Given the description of an element on the screen output the (x, y) to click on. 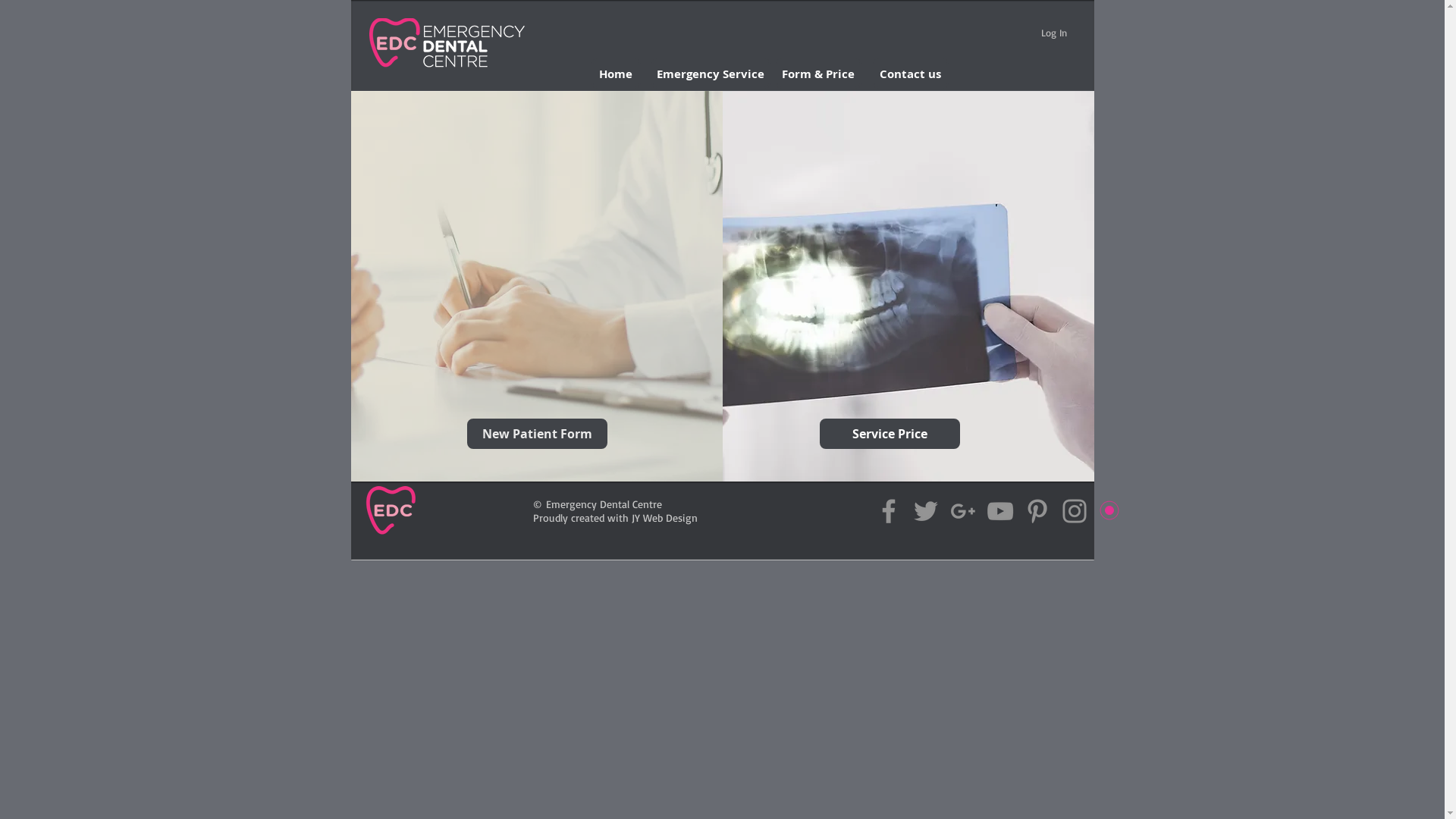
Log In Element type: text (1052, 32)
Contact us Element type: text (909, 73)
Form & Price Element type: text (817, 73)
Service Price Element type: text (889, 433)
JY Web Design Element type: text (663, 517)
Home Element type: text (615, 73)
Emergency Service Element type: text (709, 73)
